Given the description of an element on the screen output the (x, y) to click on. 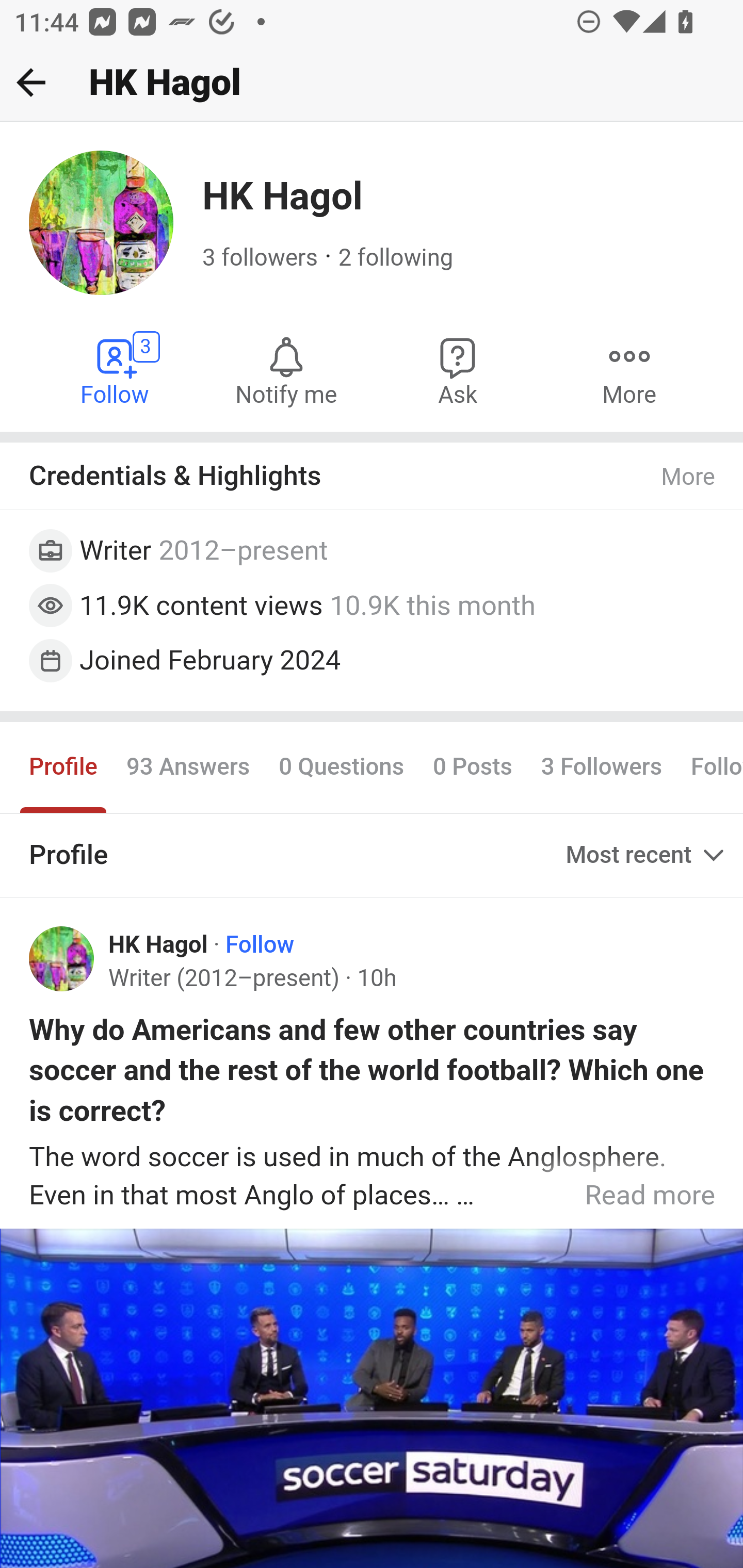
Back HK Hagol (371, 82)
Back (30, 82)
3 followers (260, 257)
2 following (395, 257)
Follow HK Hagol 3 Follow (115, 370)
Notify me (285, 370)
Ask (458, 370)
More (628, 370)
More (688, 477)
Profile (63, 766)
93 Answers (187, 766)
0 Questions (341, 766)
0 Posts (471, 766)
3 Followers (600, 766)
Most recent (647, 854)
Profile photo for HK Hagol (61, 959)
HK Hagol (158, 944)
Follow (259, 944)
10h 10 h (376, 979)
